Given the description of an element on the screen output the (x, y) to click on. 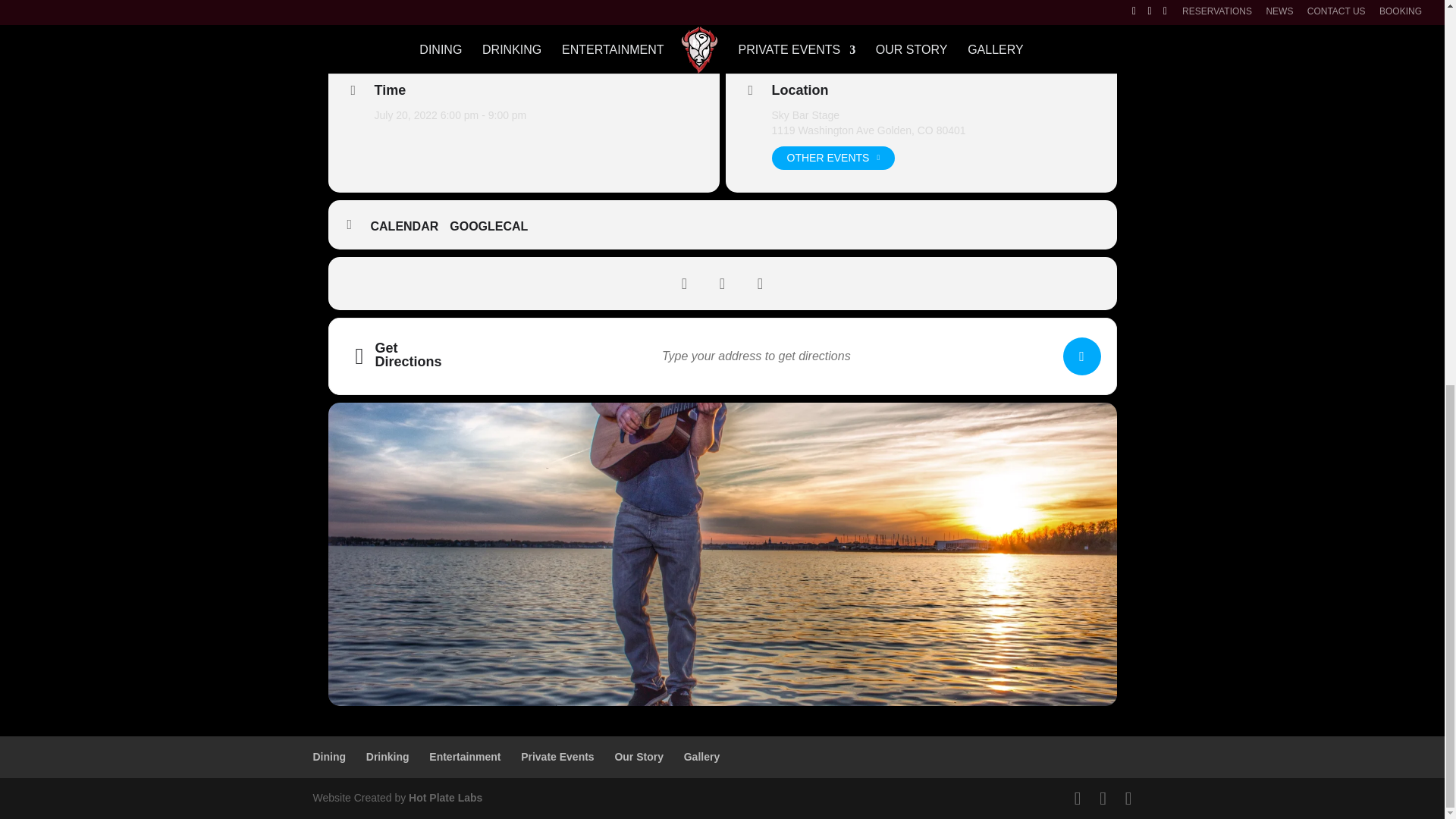
Click here to get directions (1081, 356)
FREE (401, 16)
Add to your calendar (409, 226)
Add to google calendar (493, 226)
Share on Twitter (722, 283)
GOOGLECAL (493, 226)
Share on facebook (684, 283)
CALENDAR (409, 226)
